Given the description of an element on the screen output the (x, y) to click on. 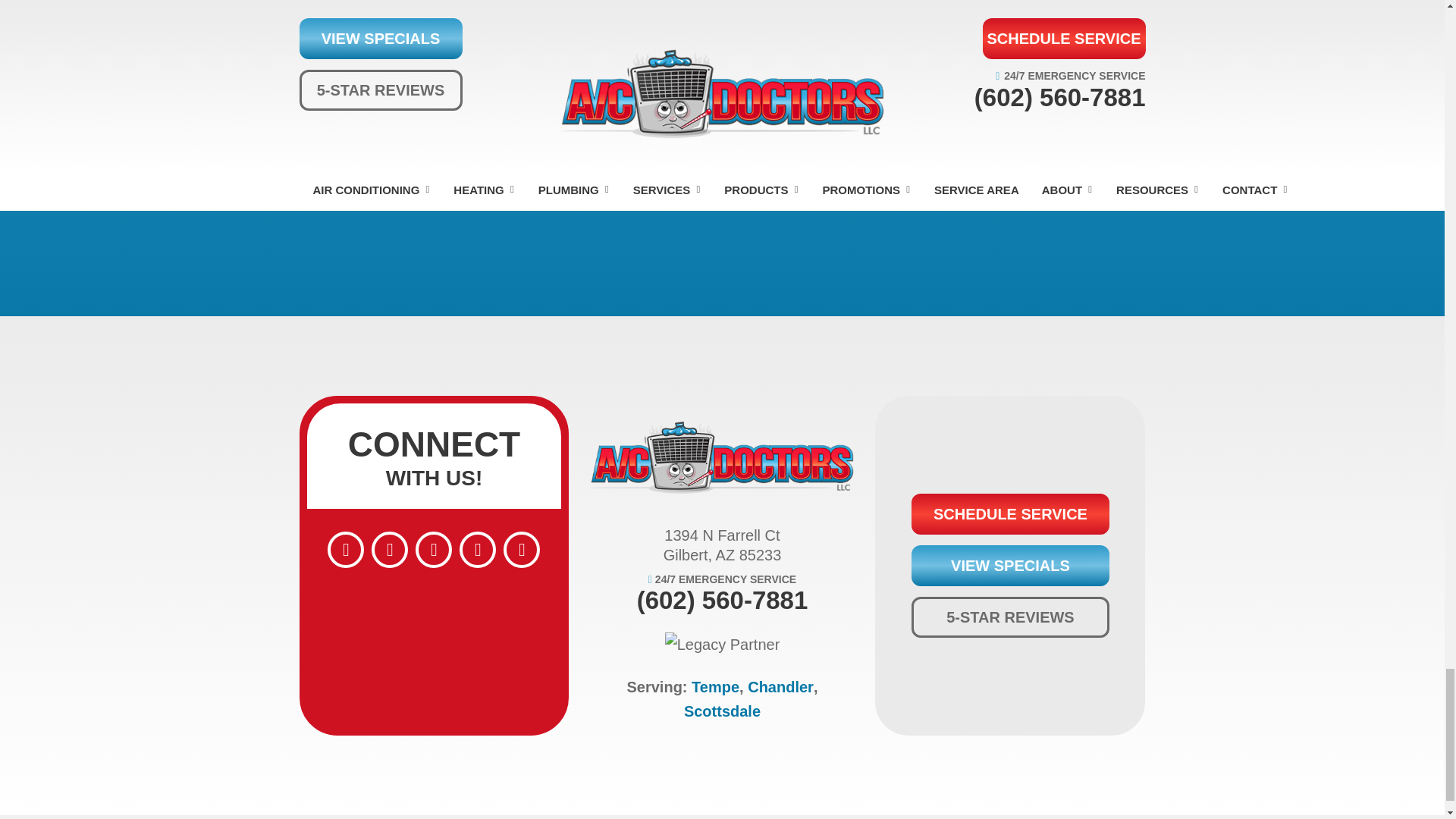
Submit (721, 136)
